Given the description of an element on the screen output the (x, y) to click on. 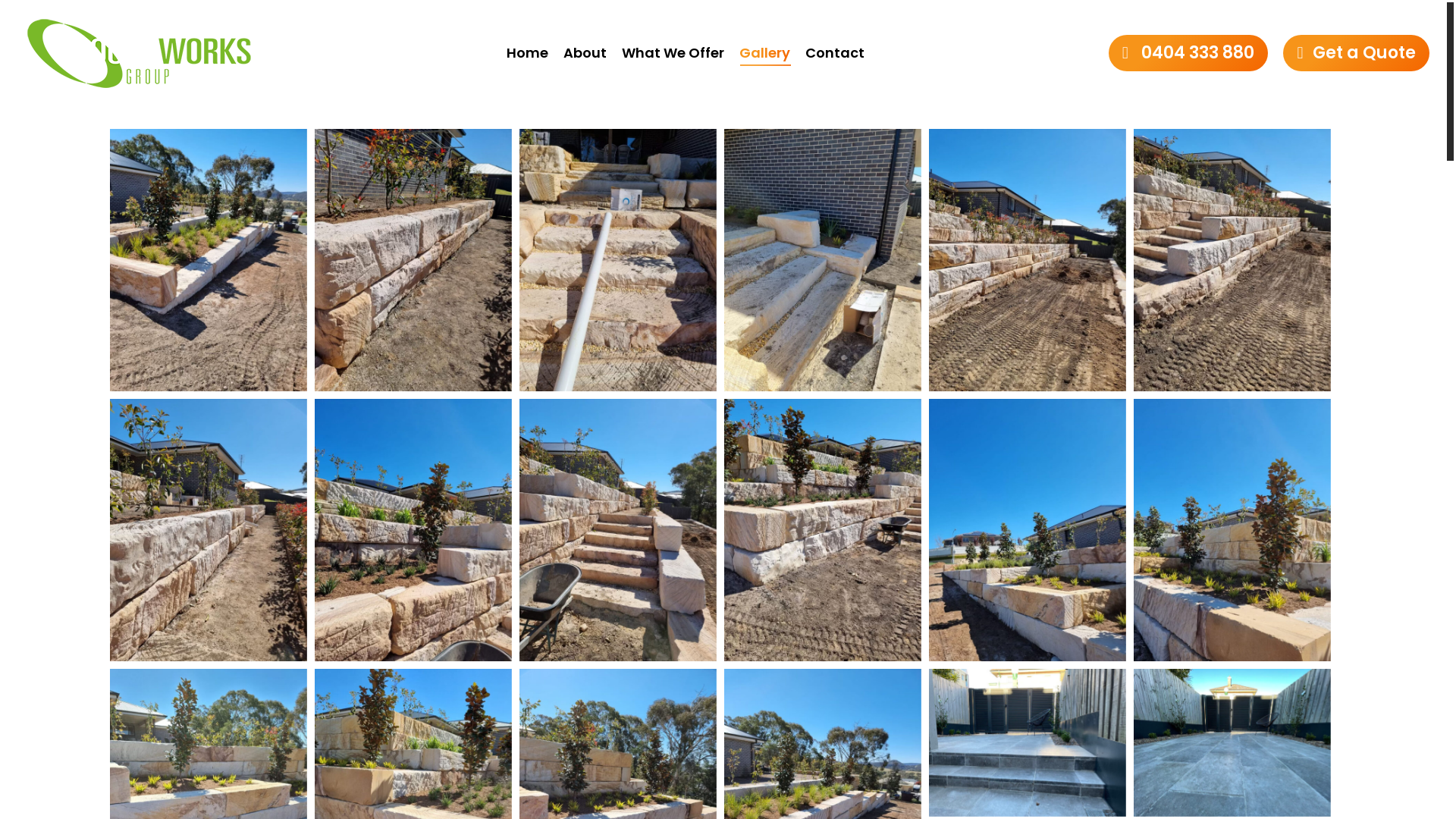
aa77352f-6f01-4388-8d48-4215d4e30f33 Element type: hover (208, 529)
Gallery Element type: text (764, 52)
6e3f626c-5ee1-4377-9524-5e2d1d65ec99 Element type: hover (1027, 259)
0404 333 880 Element type: text (1188, 52)
About Element type: text (584, 52)
d94fe9a3-e0e7-4bca-a1d5-9c4bc14a8a3d Element type: hover (822, 259)
37a91a9d-3463-4759-ba42-ebf74e1c8c82 Element type: hover (412, 259)
dea112c5-6463-457f-a72f-be89ac39bc94 Element type: hover (1231, 259)
02eaa59d-3316-434b-b844-8ea6c1d0f93c Element type: hover (412, 529)
IMG_6176 Element type: hover (1231, 742)
Home Element type: text (527, 52)
2ca46562-7595-4246-ae72-5447dd70ef03 Element type: hover (208, 259)
IMG_6175 Element type: hover (1027, 742)
aa97179f-964d-4145-94ff-adde1354106c Element type: hover (1231, 529)
43eaf328-2c9f-497b-a158-0228f042752c Element type: hover (617, 259)
Contact Element type: text (834, 52)
What We Offer Element type: text (672, 52)
1764a9e5-0a49-40ce-8b5c-3b765d47d0a2 Element type: hover (822, 529)
d529d33e-49b6-4909-bcc8-9abf8c7cef48 Element type: hover (617, 529)
c754e48e-2982-4db4-80f7-385eaf5a55f5 Element type: hover (1027, 529)
Get a Quote Element type: text (1356, 52)
